Given the description of an element on the screen output the (x, y) to click on. 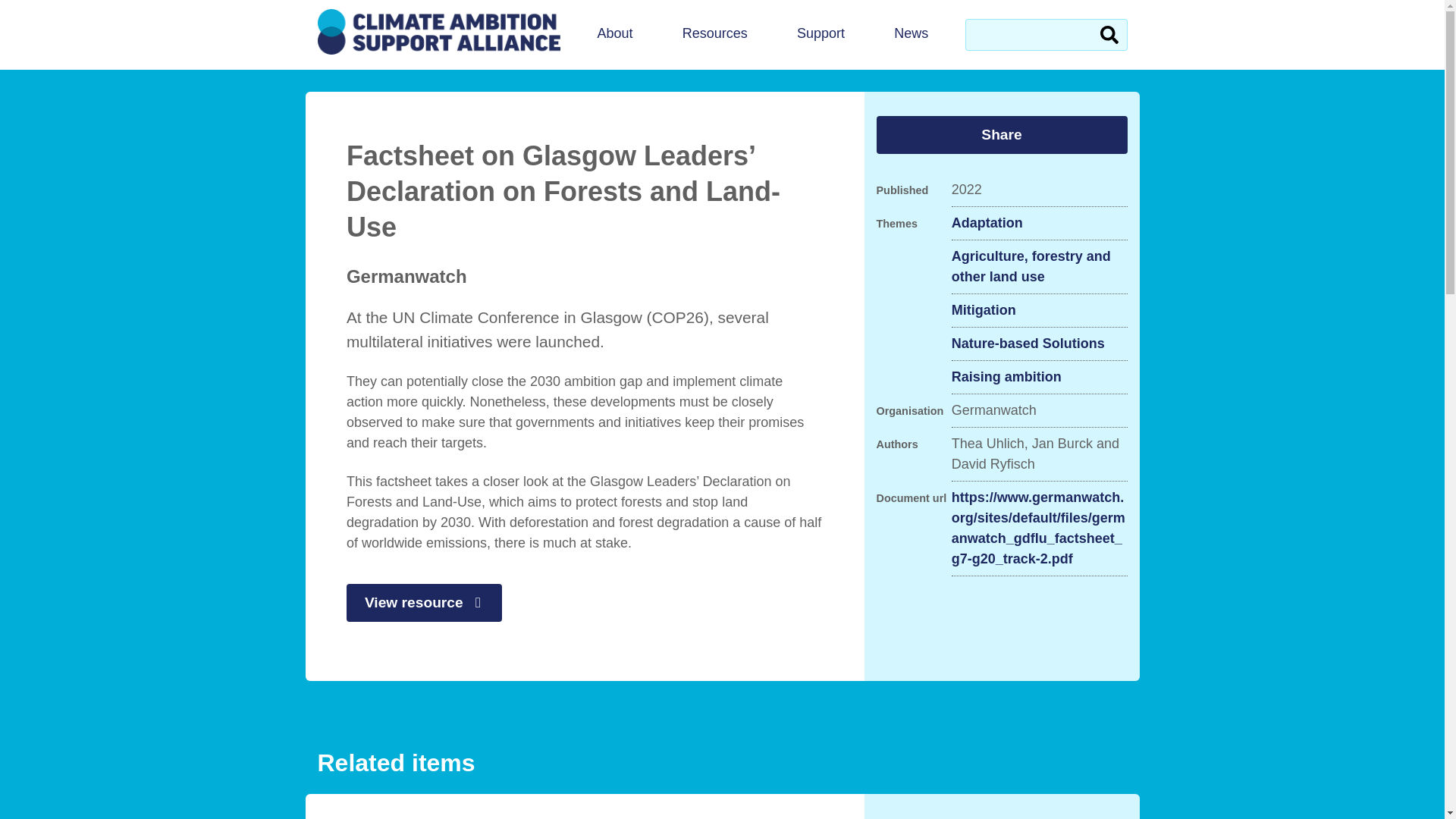
News (911, 34)
Agriculture, forestry and other land use (1039, 266)
About (614, 34)
Support (821, 34)
Raising ambition (1006, 376)
Search (1108, 34)
Nature-based Solutions (1028, 343)
Mitigation (984, 310)
Share (1001, 134)
View resource (424, 602)
Adaptation (987, 222)
Resources (714, 34)
